Given the description of an element on the screen output the (x, y) to click on. 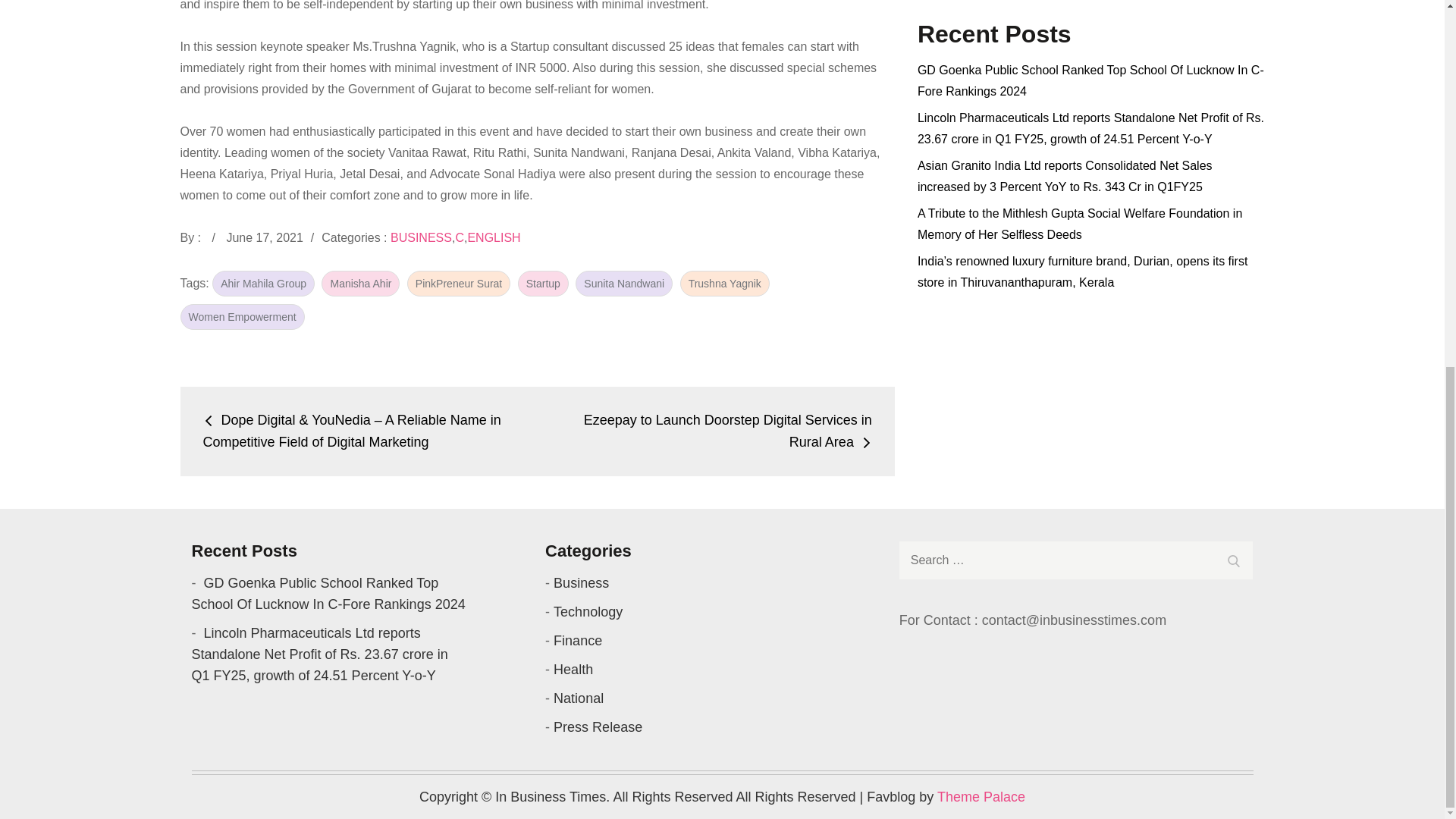
ENGLISH (493, 237)
Manisha Ahir (359, 283)
BUSINESS (420, 237)
PinkPreneur Surat (459, 283)
Women Empowerment (242, 316)
June 17, 2021 (263, 237)
Ezeepay to Launch Doorstep Digital Services in Rural Area (727, 430)
Ahir Mahila Group (263, 283)
